Given the description of an element on the screen output the (x, y) to click on. 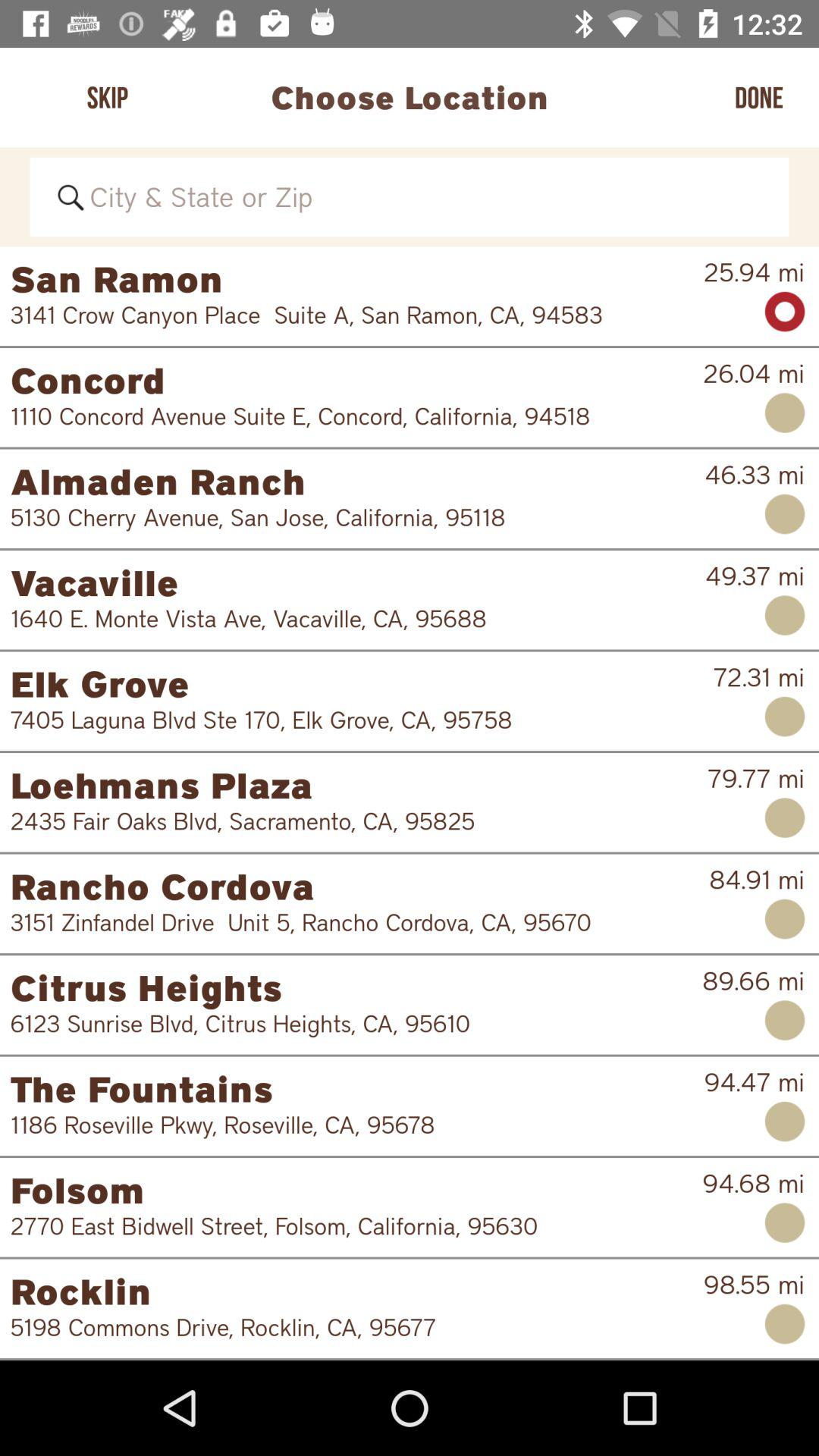
select item to the right of loehmans plaza item (755, 778)
